Given the description of an element on the screen output the (x, y) to click on. 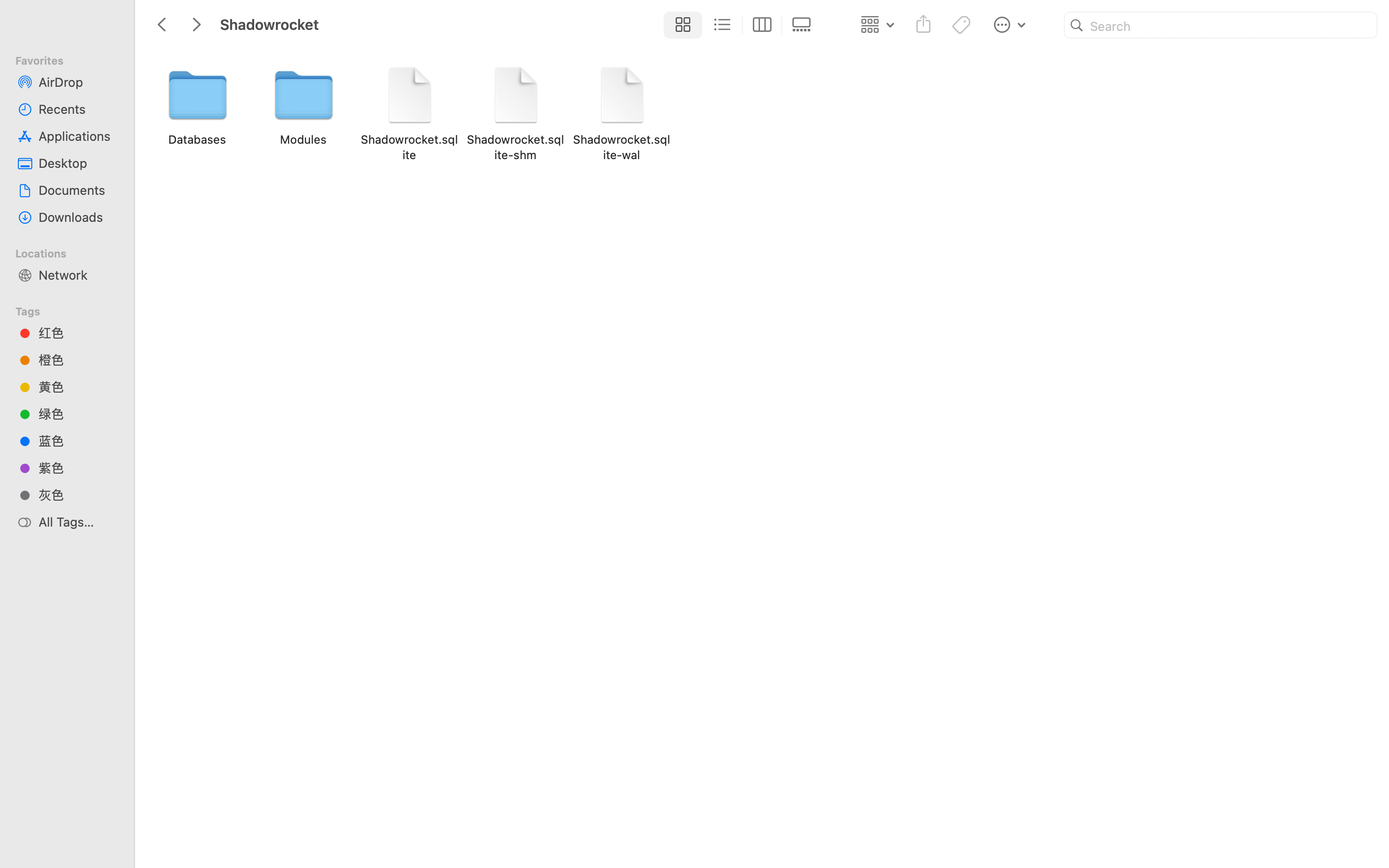
灰色 Element type: AXStaticText (77, 494)
Desktop Element type: AXStaticText (77, 162)
Recents Element type: AXStaticText (77, 108)
0 Element type: AXRadioButton (804, 24)
Applications Element type: AXStaticText (77, 135)
